Given the description of an element on the screen output the (x, y) to click on. 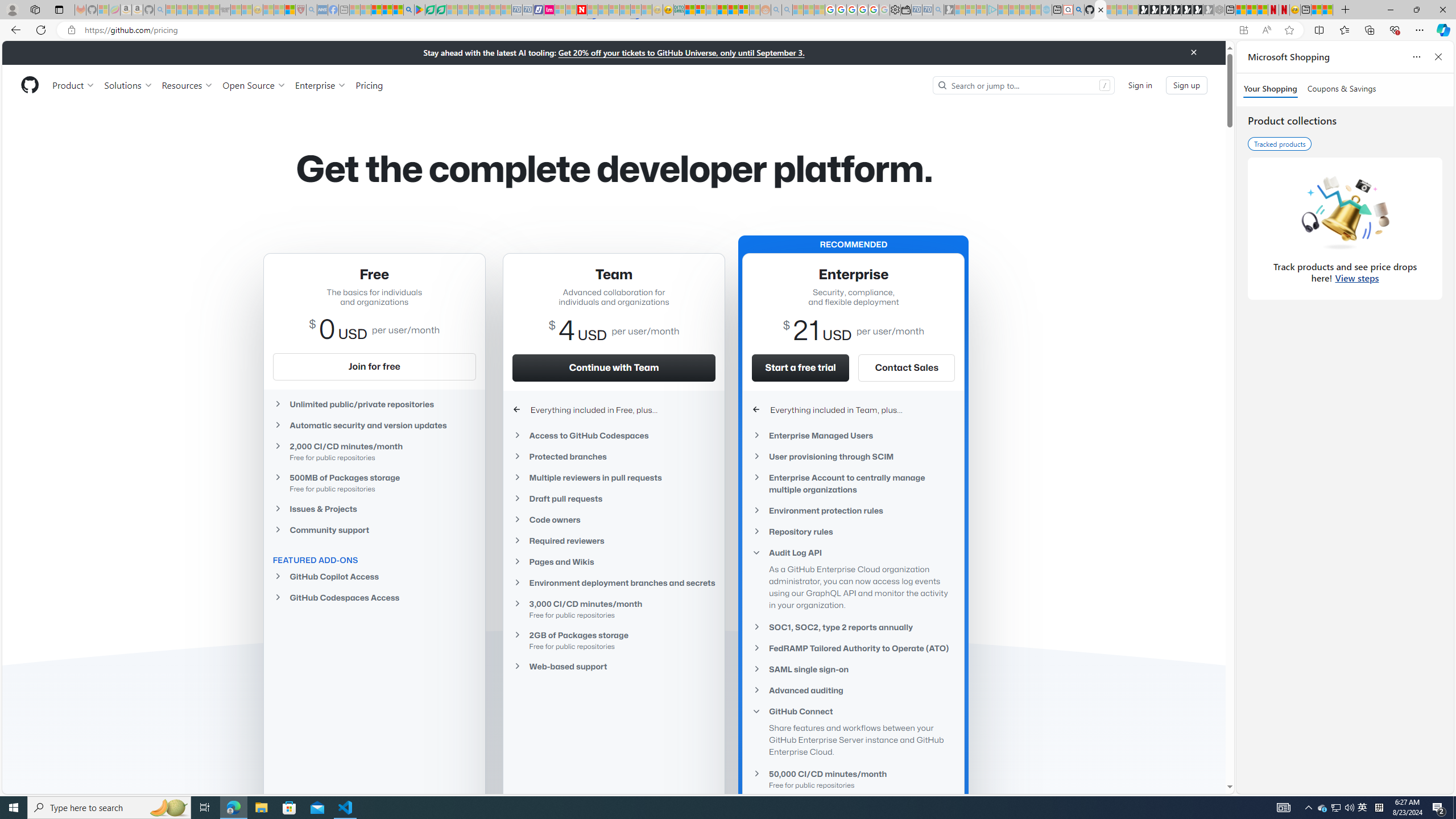
Web-based support (614, 666)
Product (74, 84)
Access to GitHub Codespaces (614, 435)
Draft pull requests (614, 498)
Web-based support (614, 666)
